Given the description of an element on the screen output the (x, y) to click on. 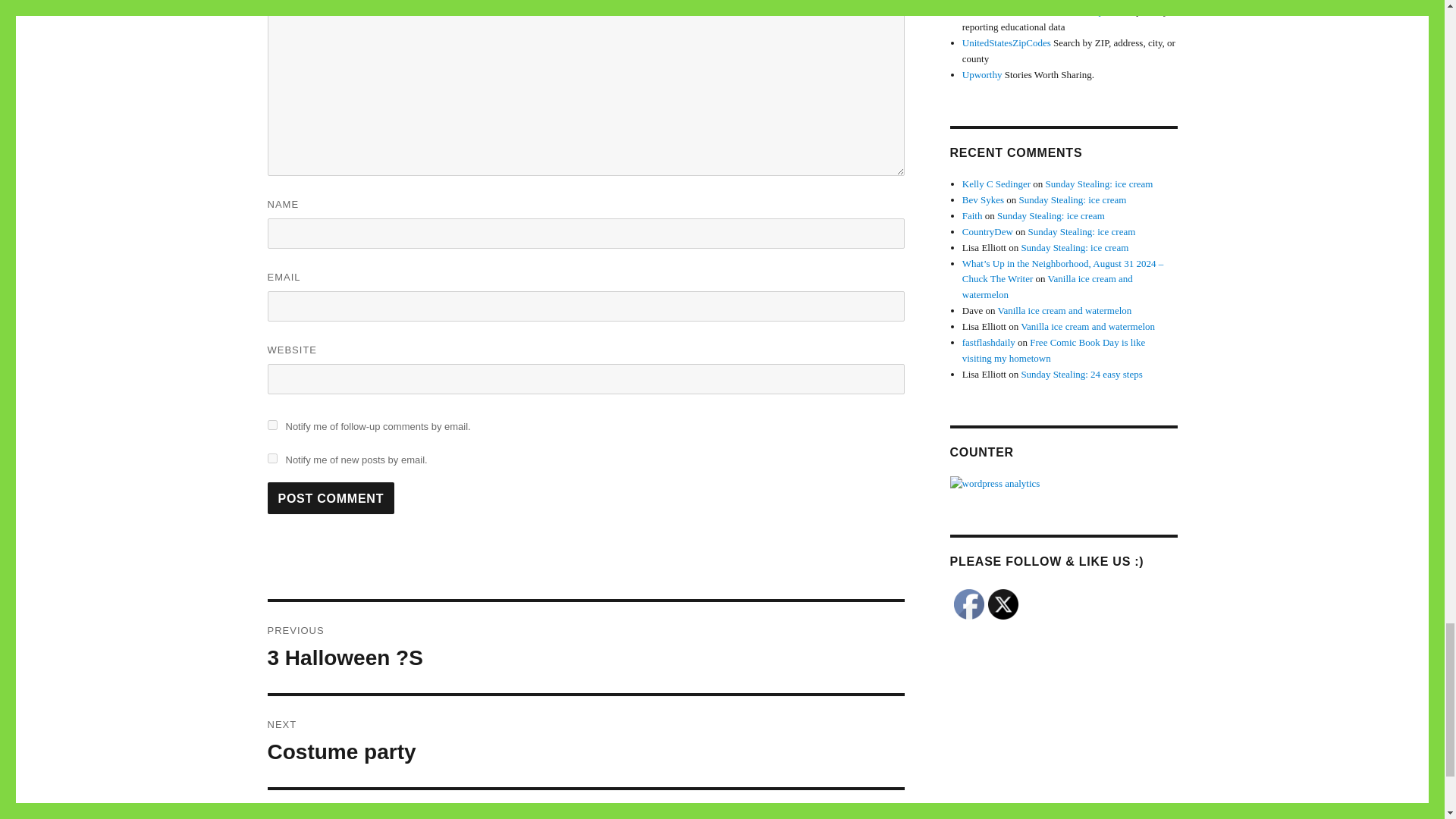
Post Comment (585, 646)
subscribe (585, 741)
Post Comment (330, 498)
subscribe (271, 458)
